Given the description of an element on the screen output the (x, y) to click on. 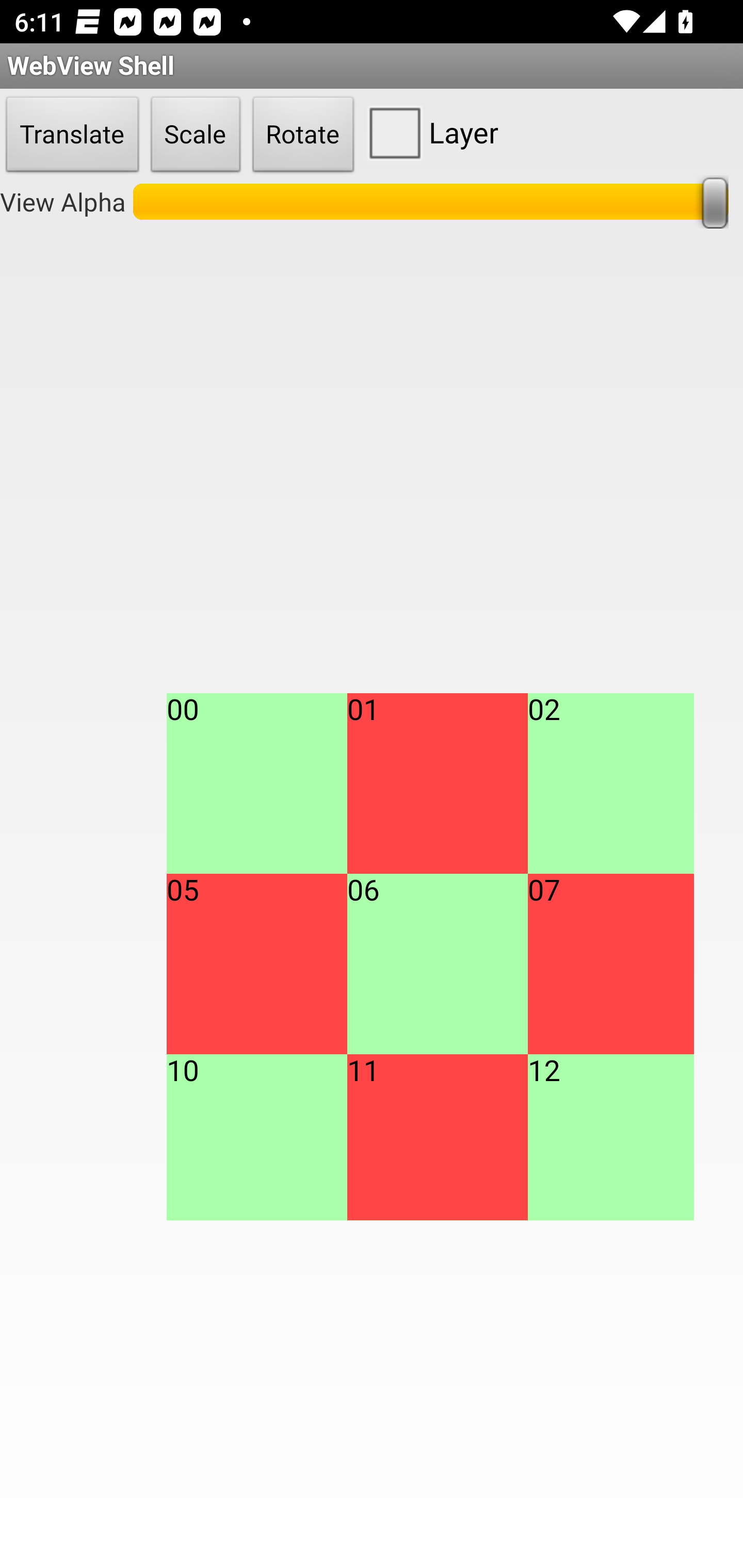
Layer (429, 132)
Translate (72, 135)
Scale (195, 135)
Rotate (303, 135)
